Given the description of an element on the screen output the (x, y) to click on. 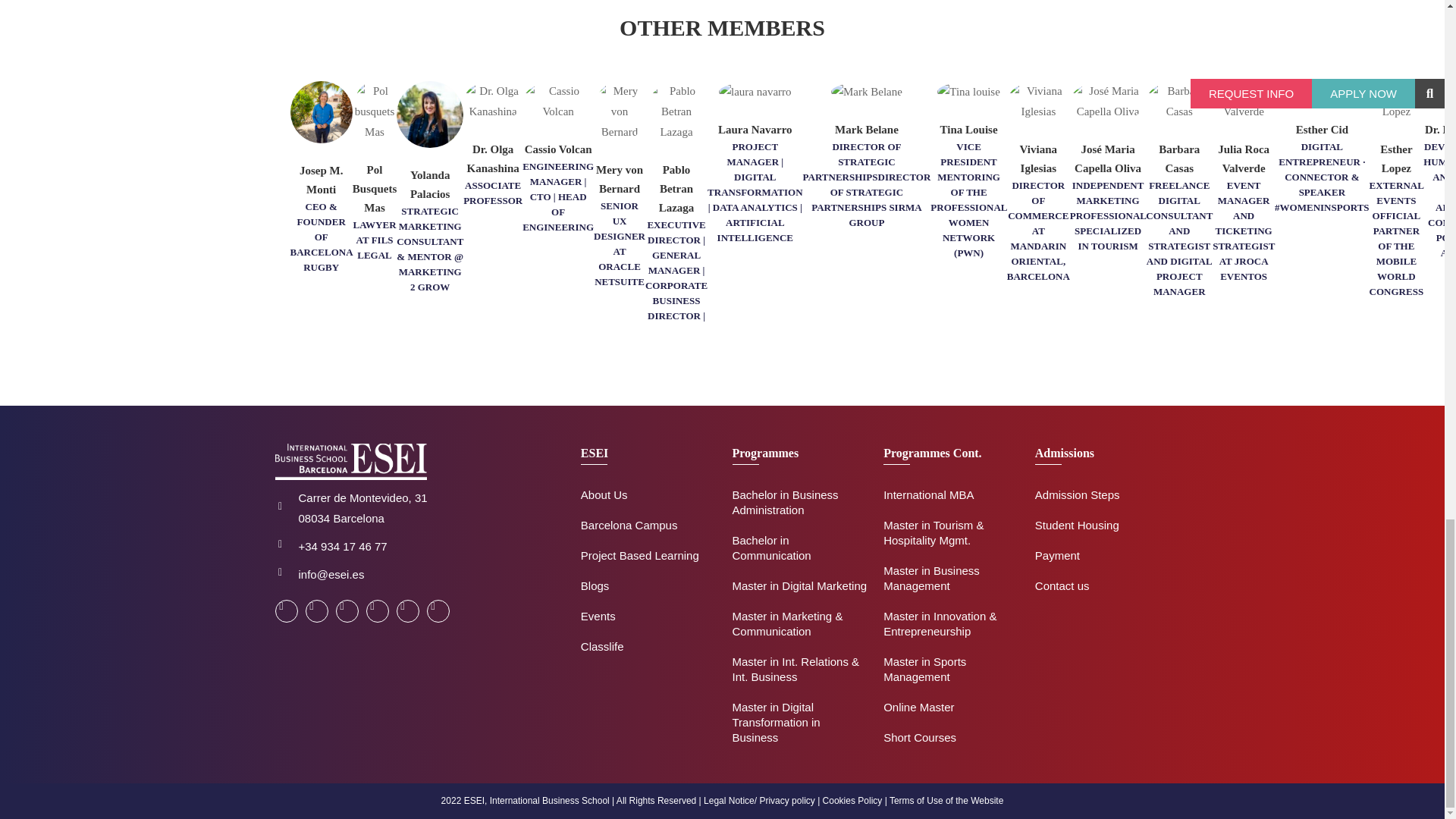
Pablo Betran Lazaga (676, 111)
Viviana Iglesias (1038, 101)
Julia Roca Valverde (1243, 101)
Mark Belane (866, 91)
Cassio Volcan (558, 101)
Dr. Olga Kanashina (492, 101)
laura navarro (755, 91)
Tina louise (968, 91)
Josep m. monti (320, 112)
Yolanda Palacios (429, 114)
